Given the description of an element on the screen output the (x, y) to click on. 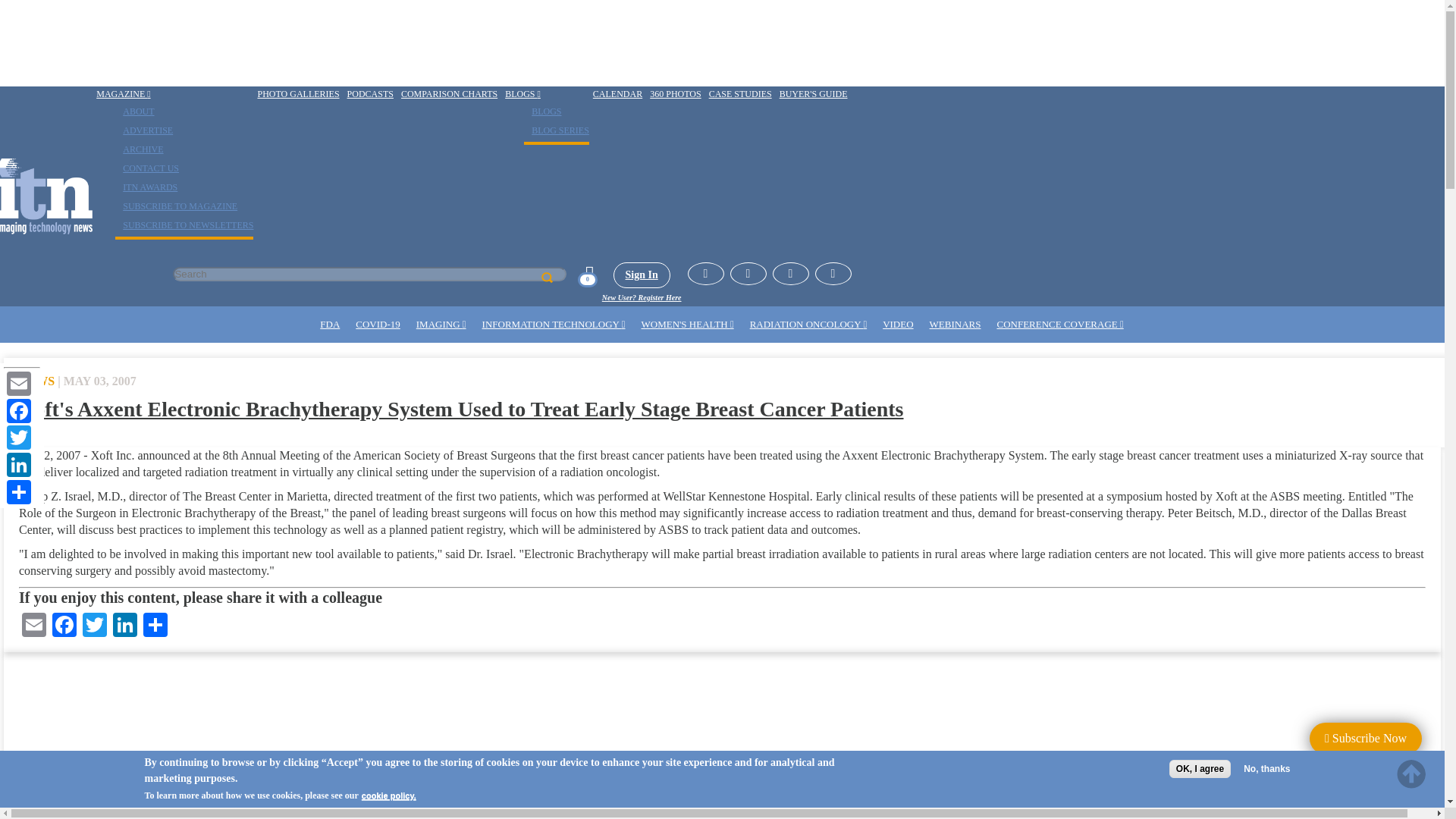
Home (46, 196)
3rd party ad content (275, 42)
SUBSCRIBE TO NEWSLETTERS (184, 224)
ABOUT (134, 110)
3rd party ad content (132, 743)
BUYER'S GUIDE (813, 94)
FDA (330, 324)
MAGAZINE (123, 94)
SUBSCRIBE TO MAGAZINE (176, 205)
PODCASTS (370, 94)
ARCHIVE (139, 149)
New User? Register Here (641, 297)
360 PHOTOS (675, 94)
Enter the terms you wish to search for. (369, 273)
CONTACT US (147, 168)
